Given the description of an element on the screen output the (x, y) to click on. 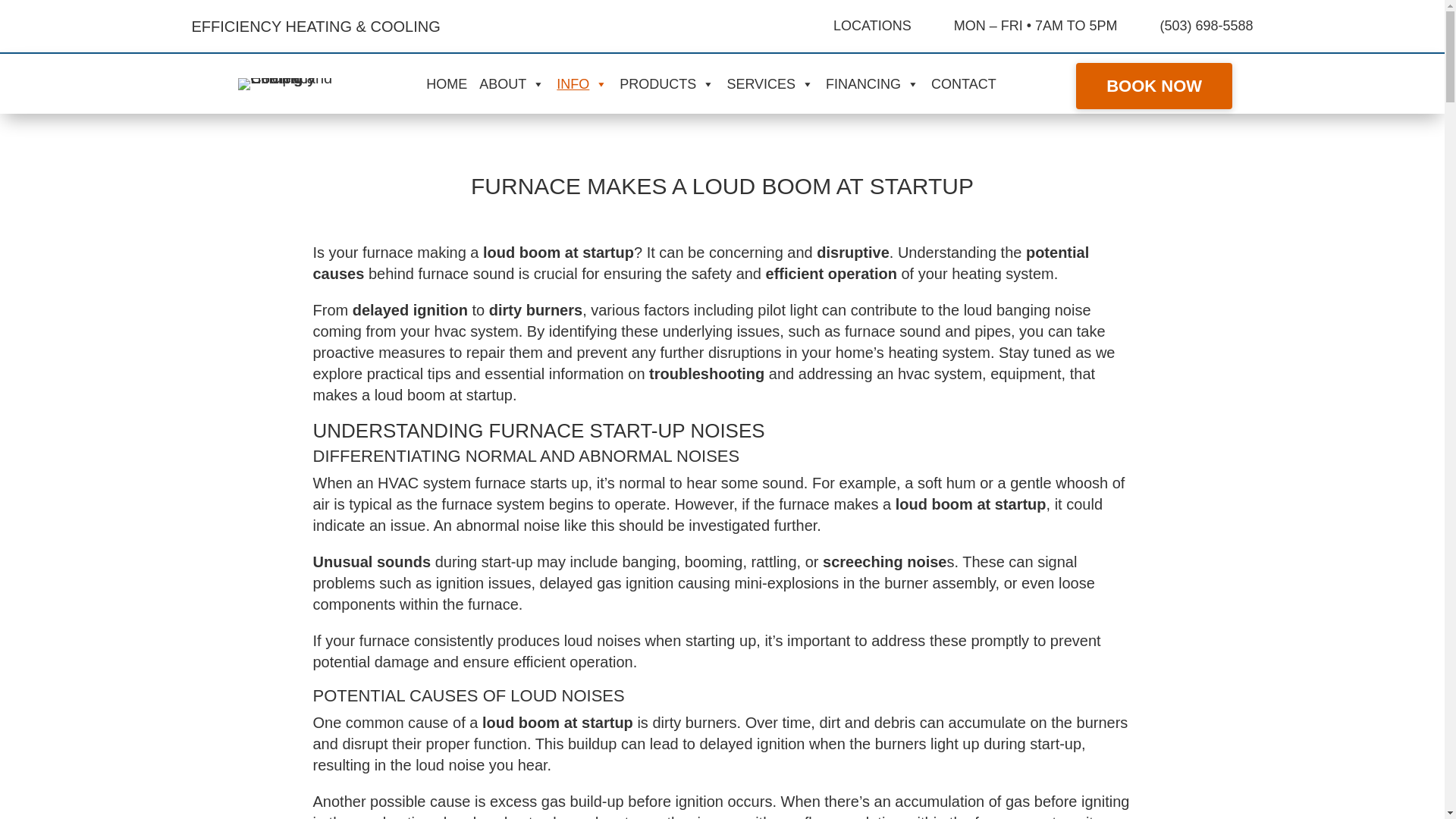
HOME (450, 83)
ehc-logo-square (290, 77)
PRODUCTS (671, 83)
ABOUT (515, 83)
INFO (585, 83)
LOCATIONS (871, 25)
